Given the description of an element on the screen output the (x, y) to click on. 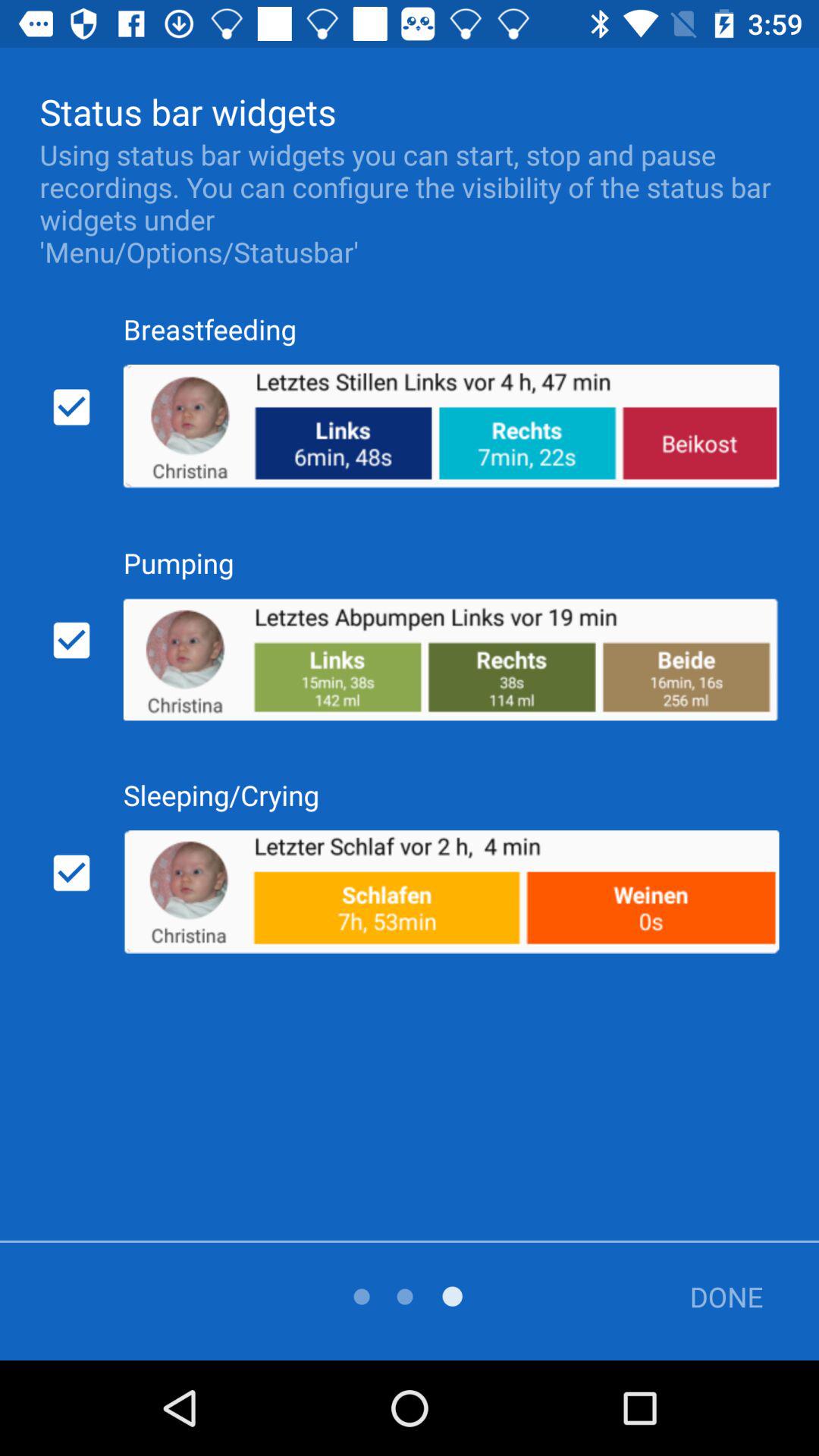
open the done item (715, 1296)
